Given the description of an element on the screen output the (x, y) to click on. 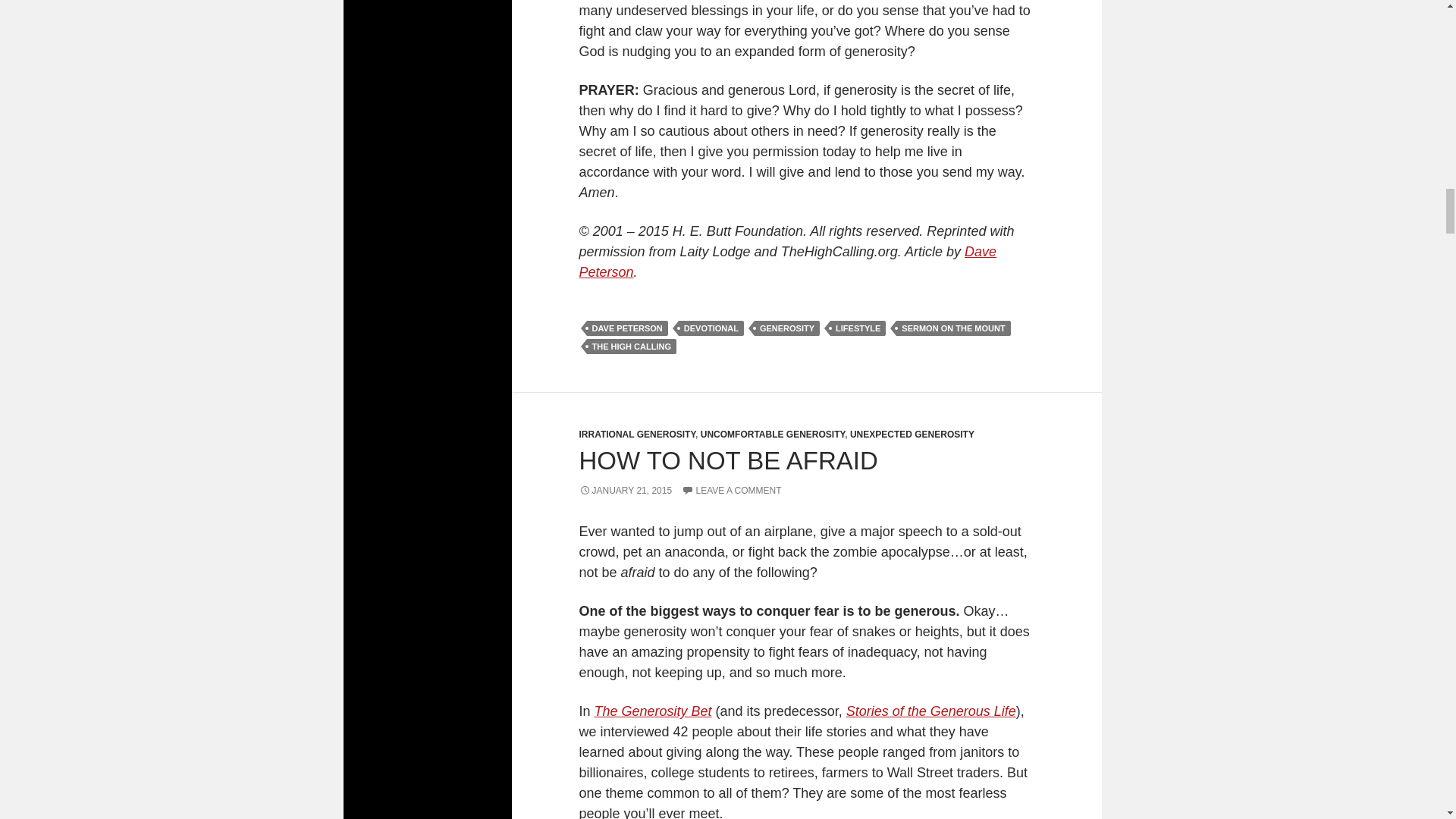
Comment on How to Not Be Afraid (730, 490)
